Given the description of an element on the screen output the (x, y) to click on. 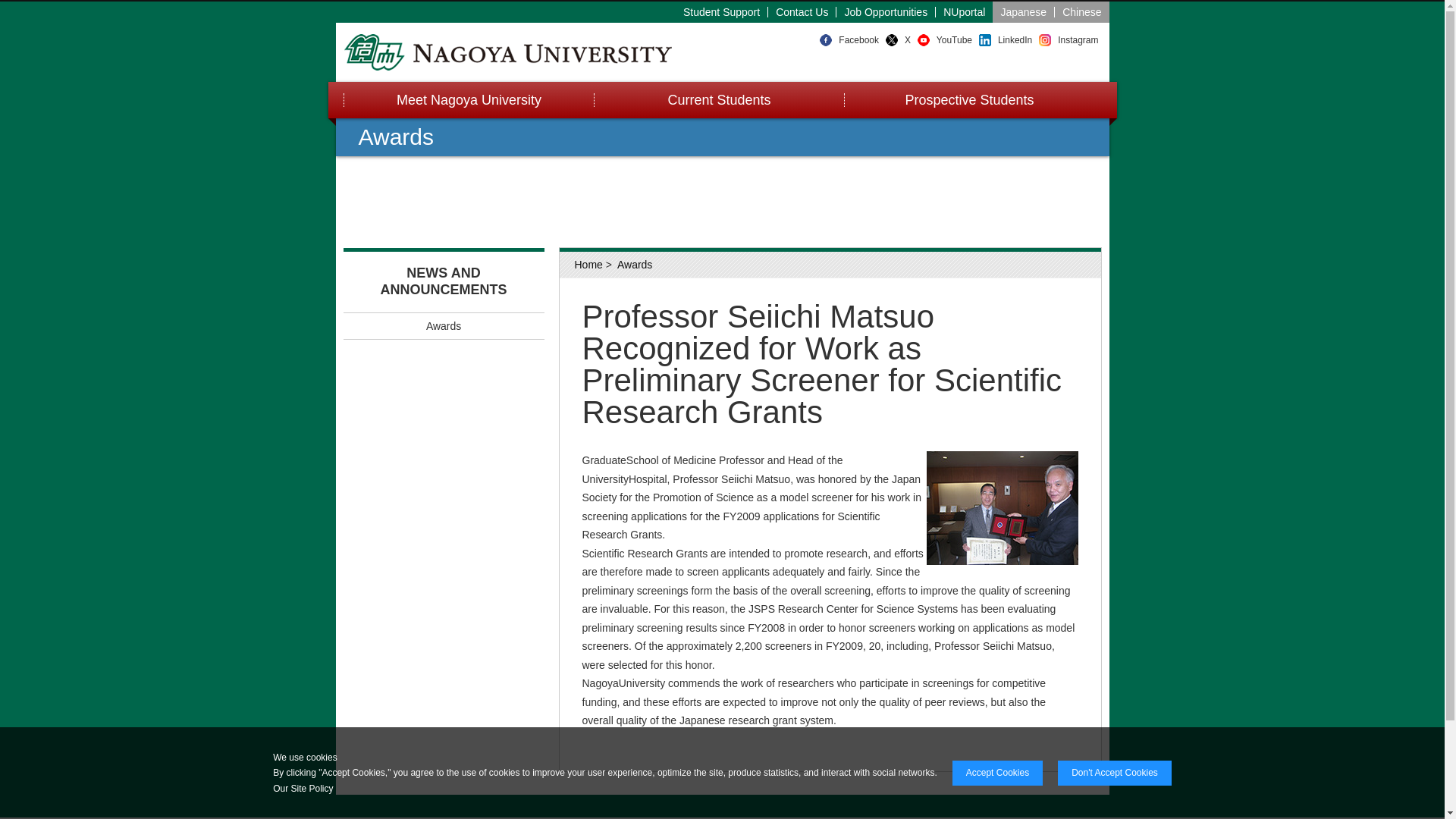
Contact Us (801, 11)
NUportal (964, 11)
Instagram (1077, 40)
Prospective Students (968, 99)
Job Opportunities (885, 11)
Japanese (1023, 11)
LinkedIn (1014, 40)
Current Students (717, 99)
Meet Nagoya University (467, 99)
Student Support (721, 11)
Chinese (1081, 11)
Facebook (858, 40)
YouTube (954, 40)
Home (588, 264)
